Given the description of an element on the screen output the (x, y) to click on. 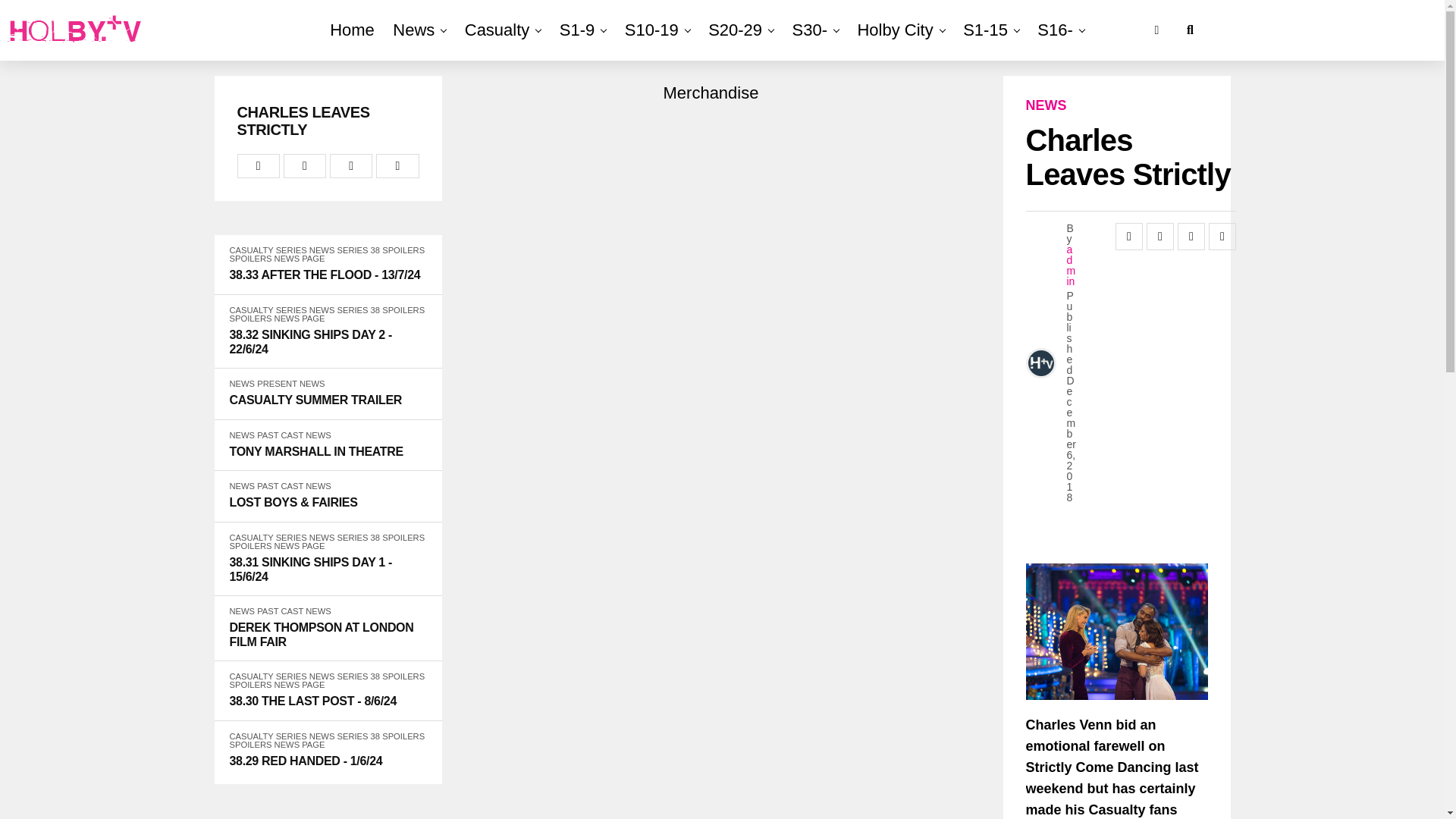
Tweet This Post (304, 165)
Share on Flipboard (351, 165)
Share on Facebook (257, 165)
